Given the description of an element on the screen output the (x, y) to click on. 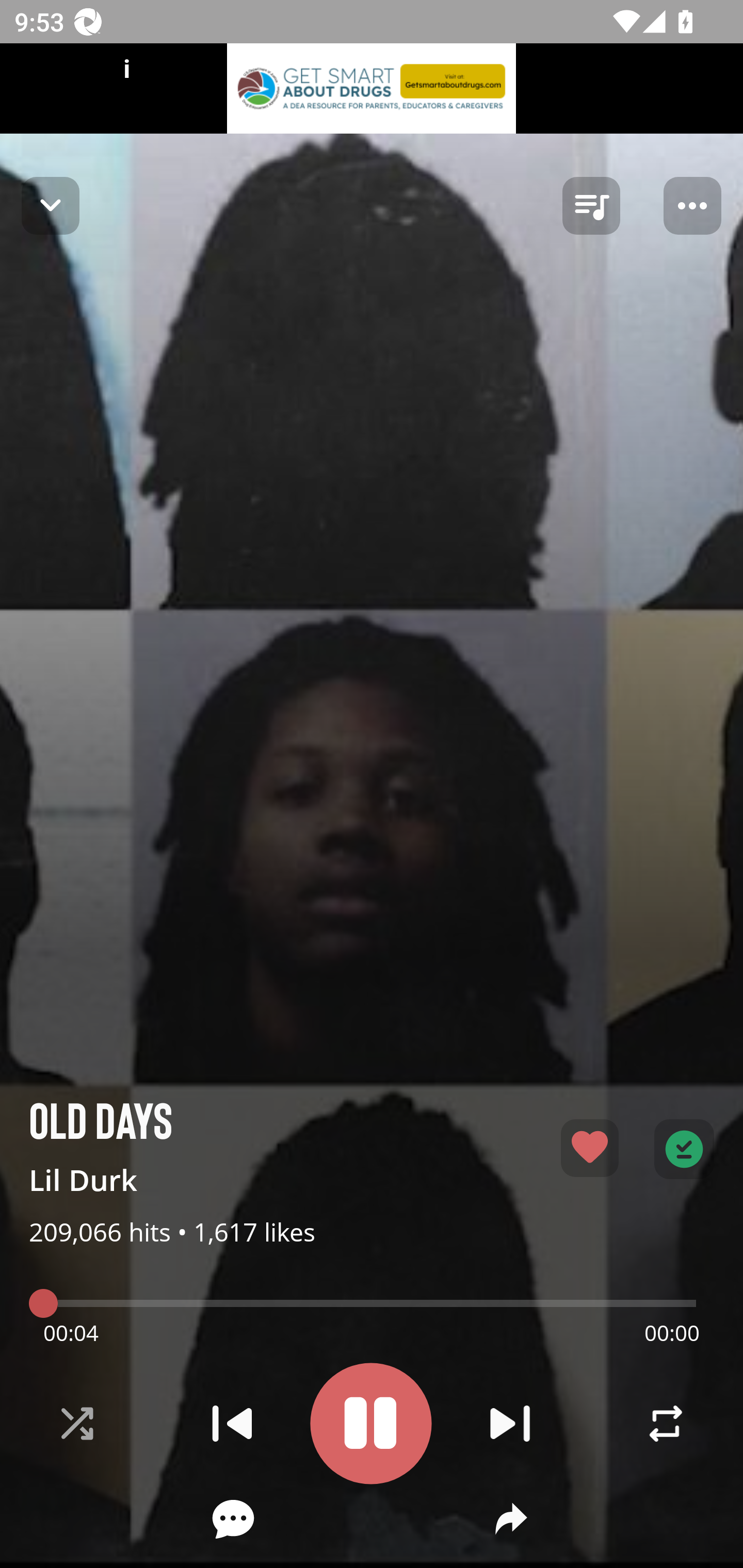
Navigate up (50, 205)
queue (590, 206)
Player options (692, 206)
